Given the description of an element on the screen output the (x, y) to click on. 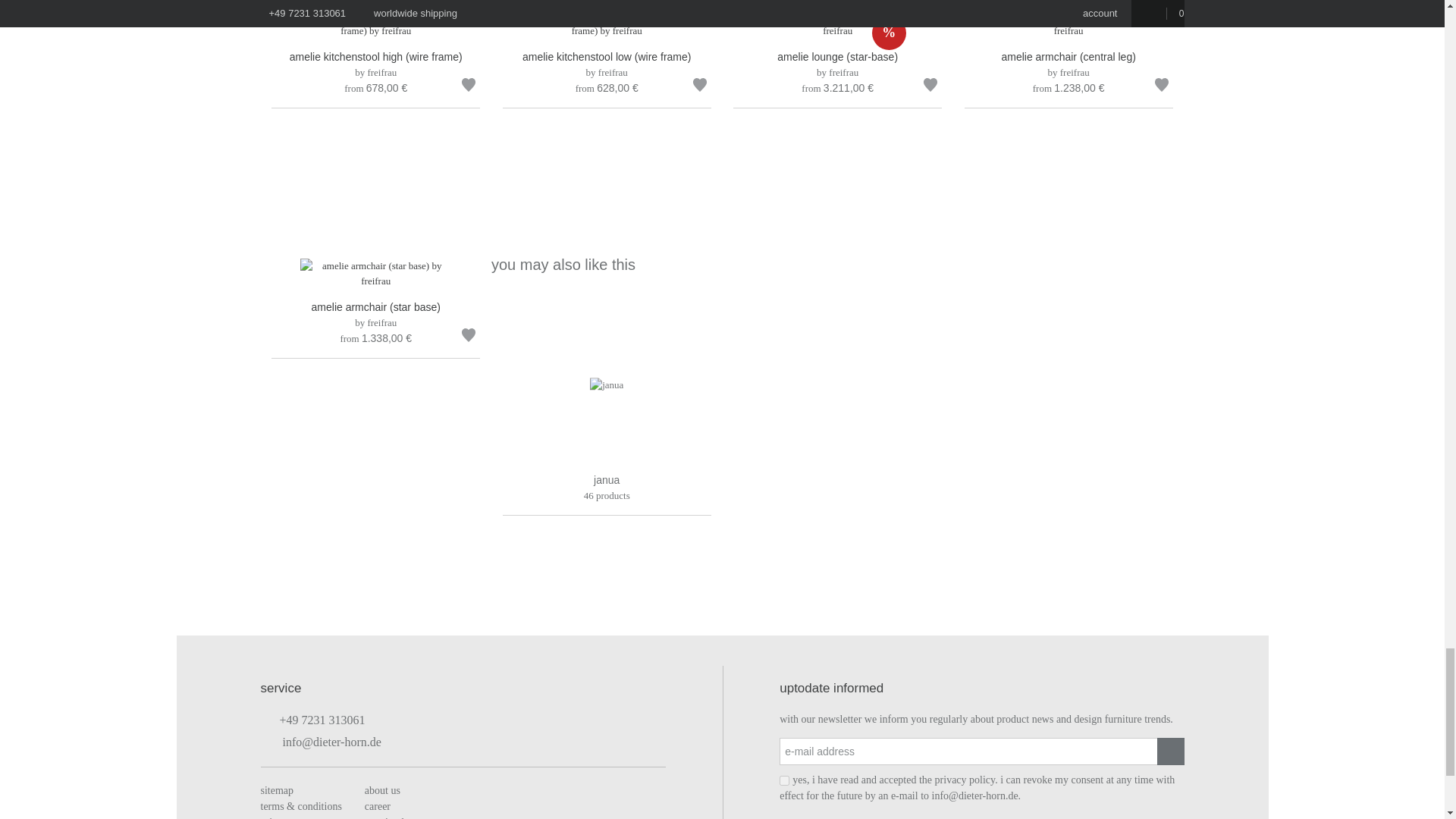
on (783, 780)
